Given the description of an element on the screen output the (x, y) to click on. 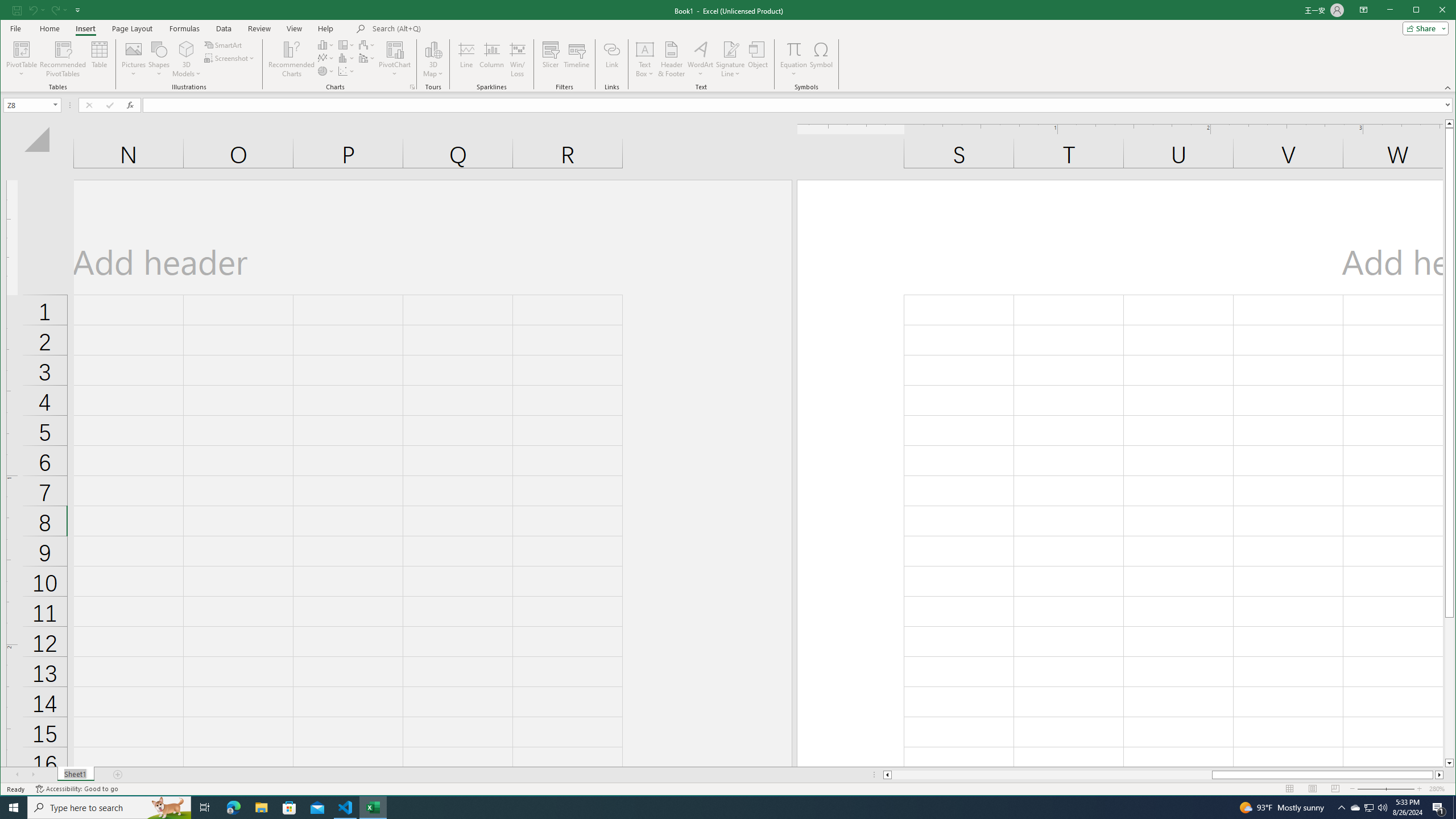
PivotTable (22, 48)
Excel - 1 running window (373, 807)
PivotTable (22, 59)
PivotChart (394, 48)
Formula Bar (1368, 807)
Start (799, 104)
Microsoft Edge (13, 807)
Show desktop (233, 807)
Table (1454, 807)
Text Box (99, 59)
